Given the description of an element on the screen output the (x, y) to click on. 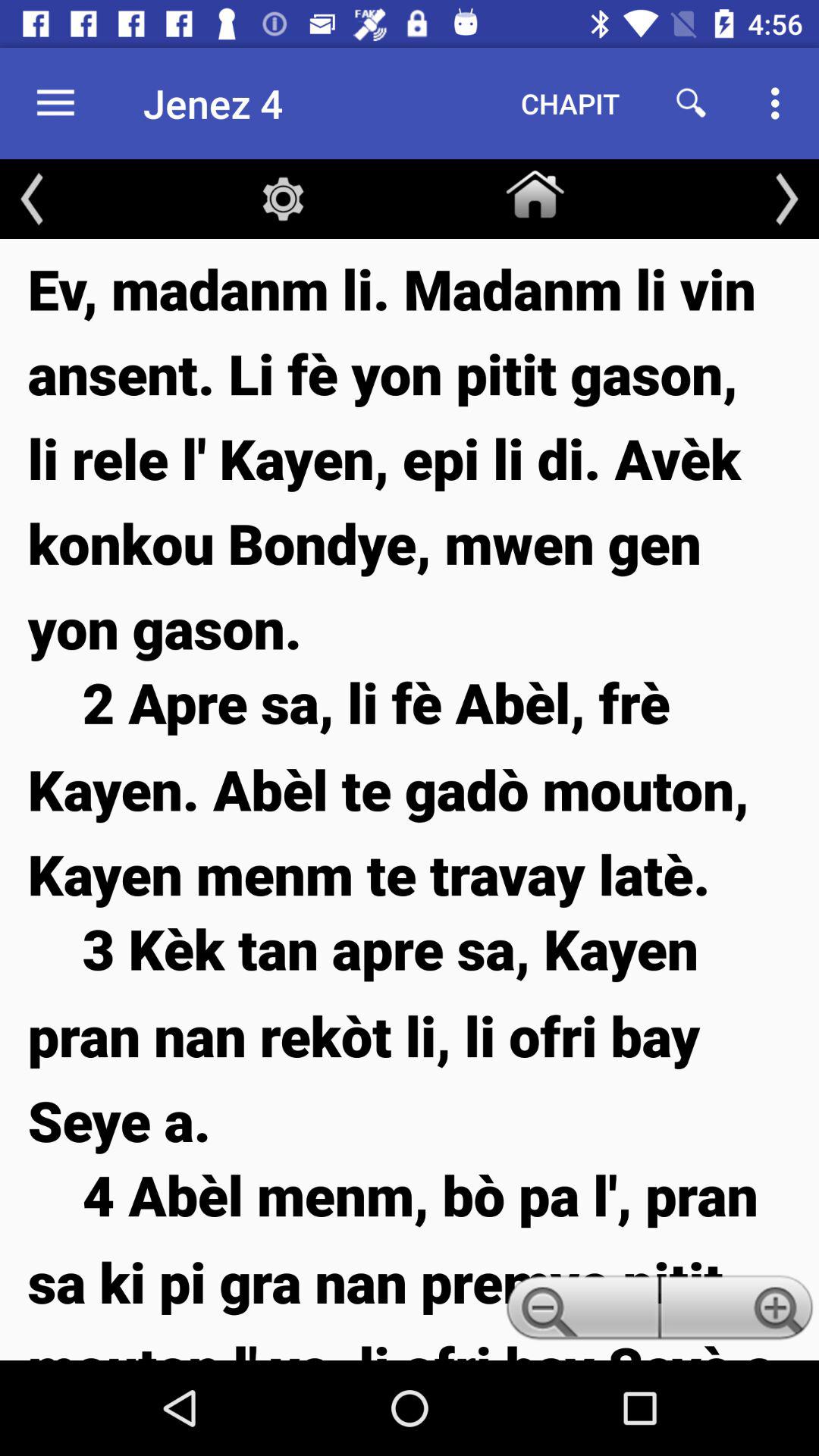
choose icon to the right of the chapit item (691, 103)
